Given the description of an element on the screen output the (x, y) to click on. 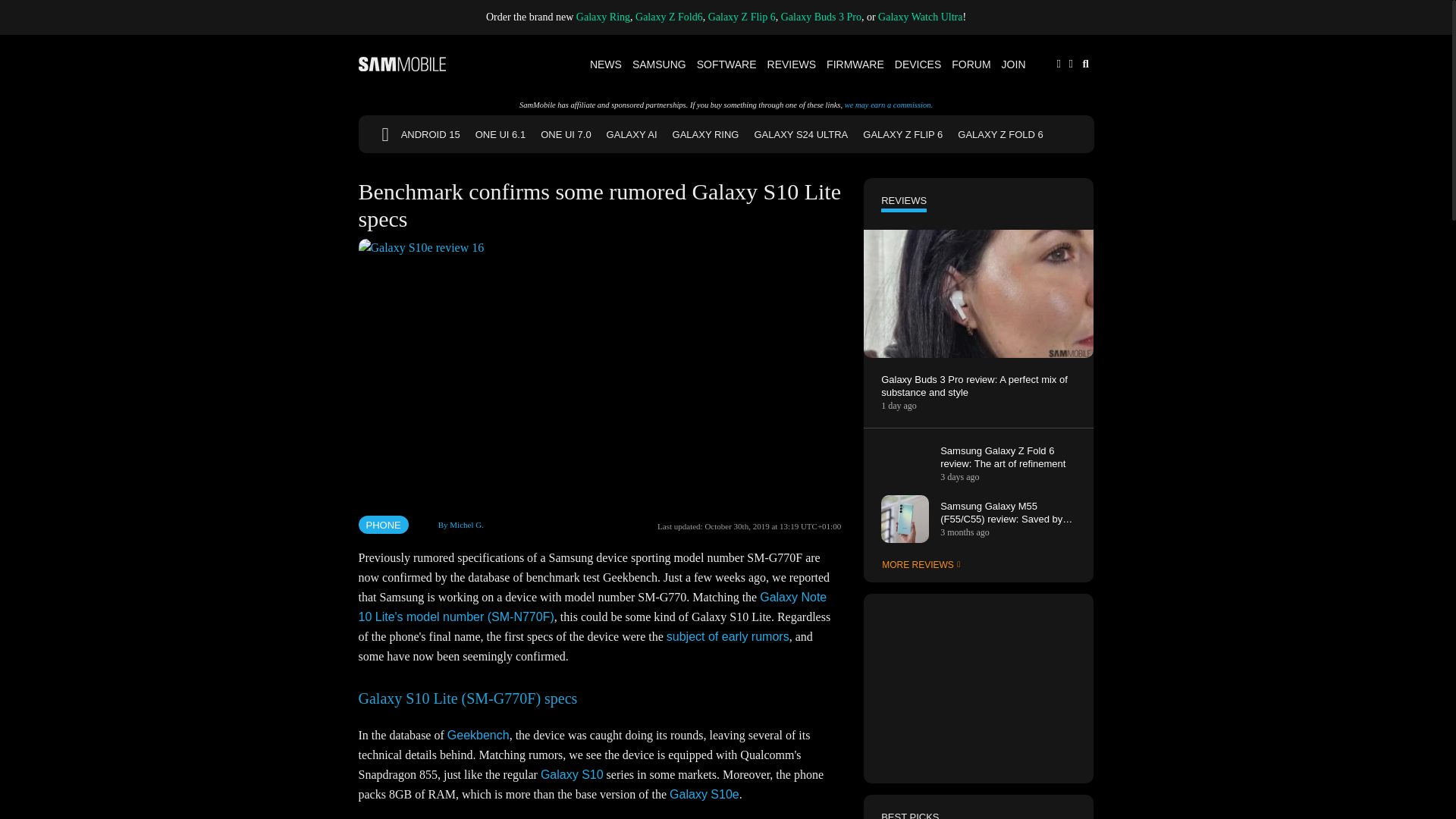
SAMSUNG (659, 64)
Galaxy Watch Ultra (919, 16)
Galaxy Buds 3 Pro (820, 16)
Galaxy Z Fold6 (668, 16)
Galaxy Ring (603, 16)
Galaxy Z Flip 6 (741, 16)
SamMobile logo (401, 63)
Samsung (659, 64)
